Given the description of an element on the screen output the (x, y) to click on. 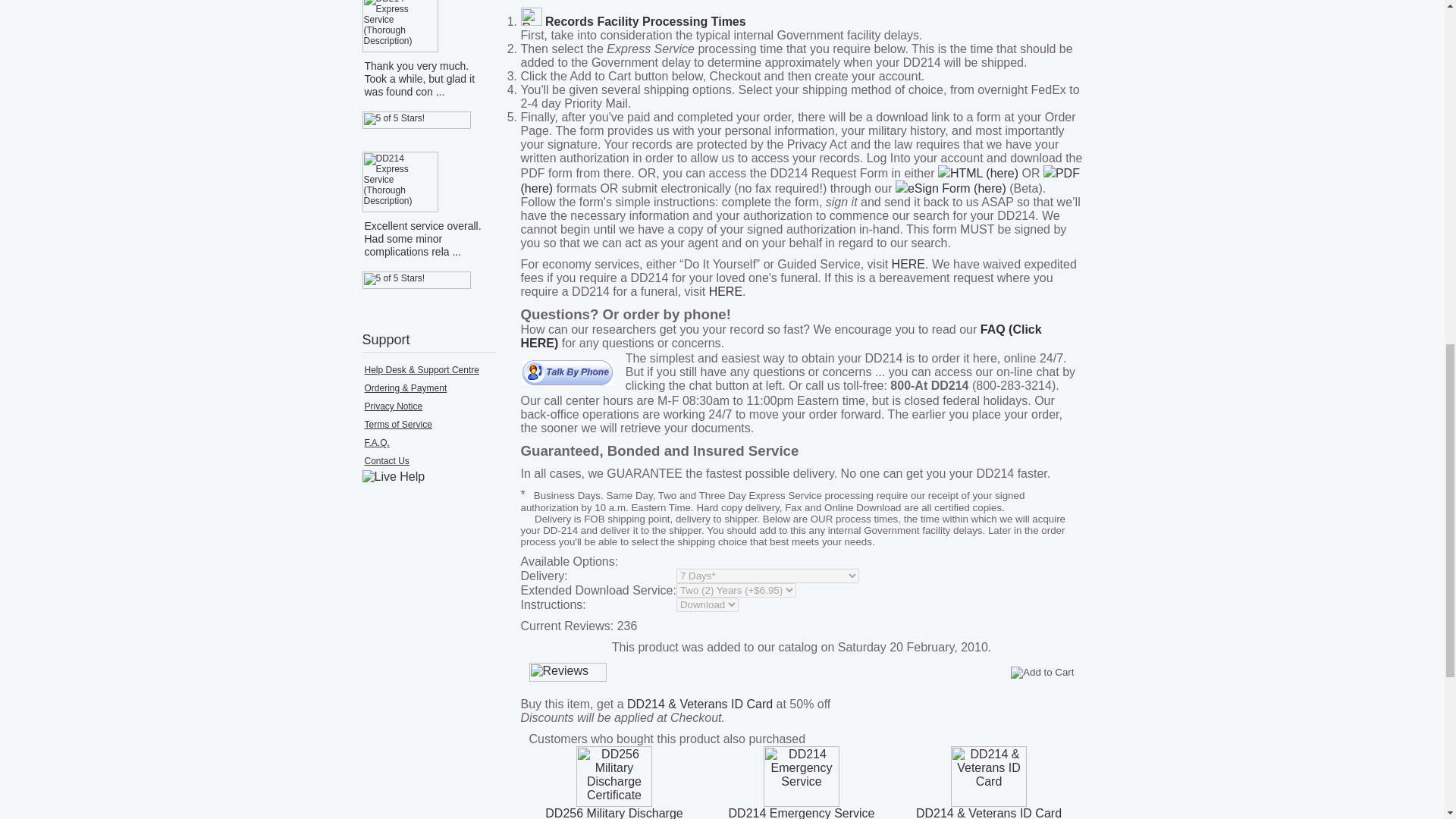
 Reviews  (568, 671)
 DD214 Emergency Service  (801, 776)
F.A.Q. (376, 442)
 5 of 5 Stars!  (416, 280)
 DD256 Military Discharge Certificate  (614, 776)
 Add to Cart  (1042, 671)
Privacy Notice (393, 406)
 5 of 5 Stars!  (416, 119)
